Given the description of an element on the screen output the (x, y) to click on. 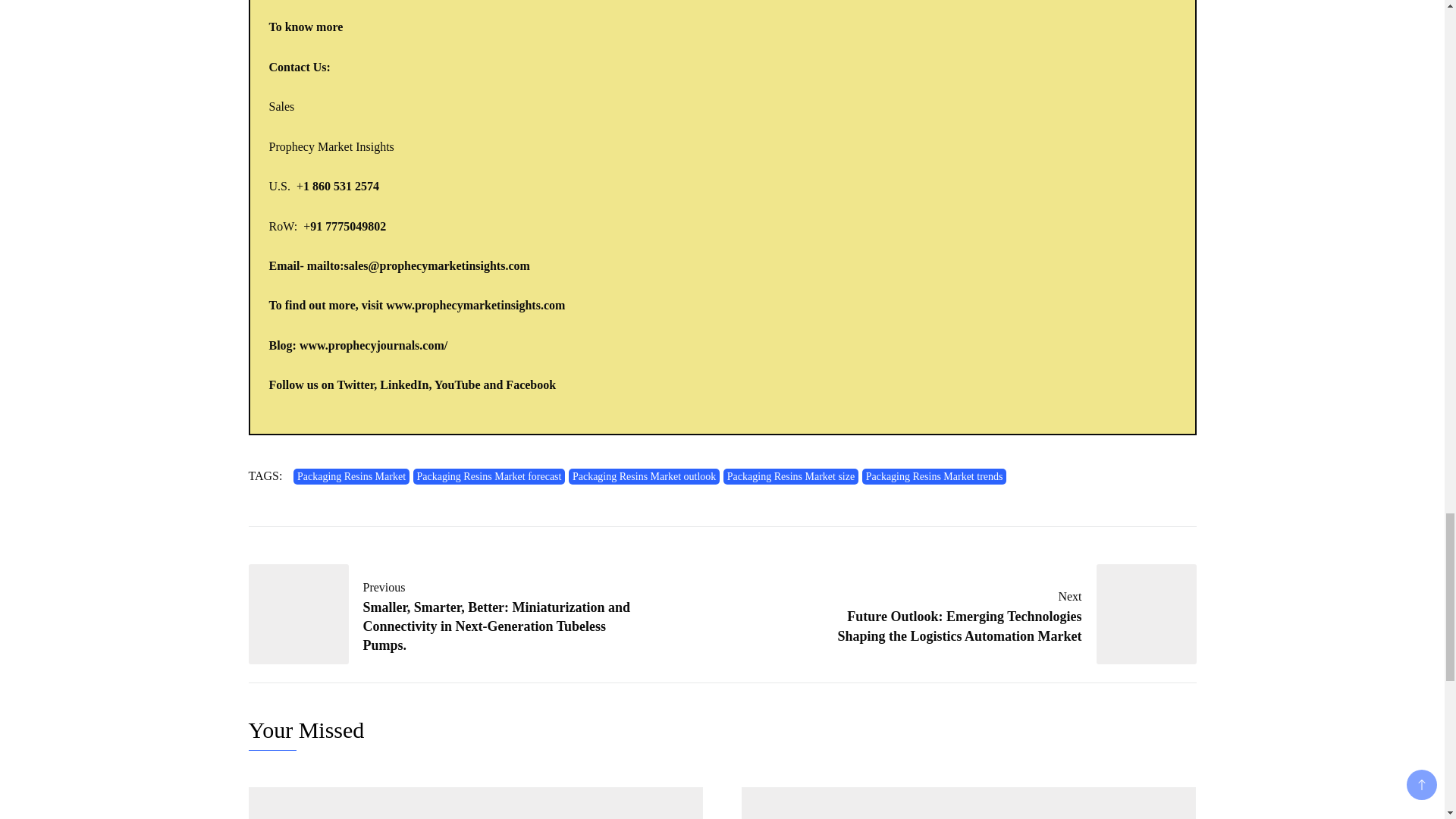
Packaging Resins Market outlook (644, 476)
Facebook (530, 384)
Packaging Resins Market (351, 476)
Packaging Resins Market trends (934, 476)
Twitter (355, 384)
LinkedIn (404, 384)
www.prophecymarketinsights.com (474, 305)
YouTube (456, 384)
Packaging Resins Market forecast (489, 476)
